Given the description of an element on the screen output the (x, y) to click on. 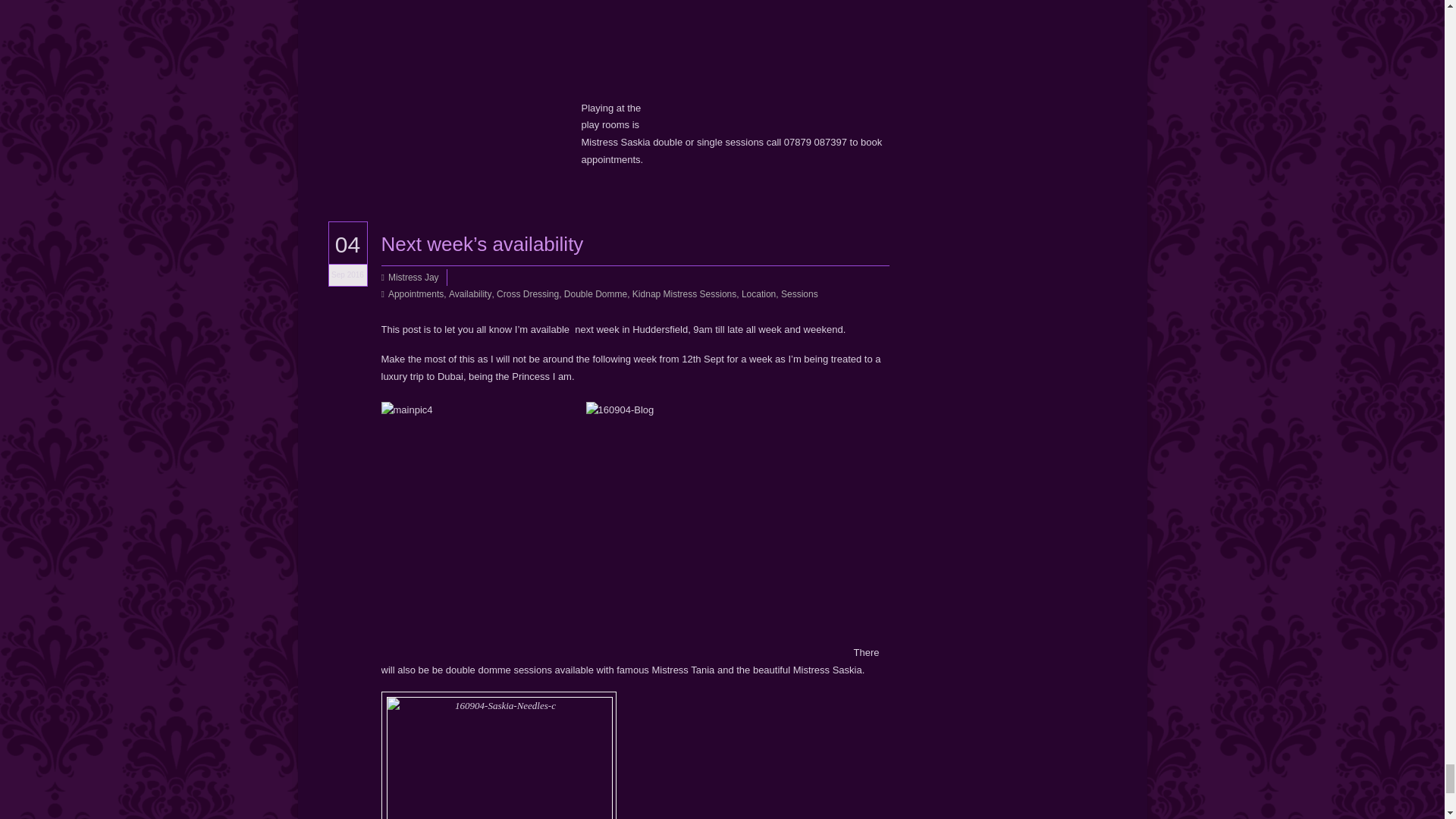
Posts by Mistress Jay (413, 276)
